Given the description of an element on the screen output the (x, y) to click on. 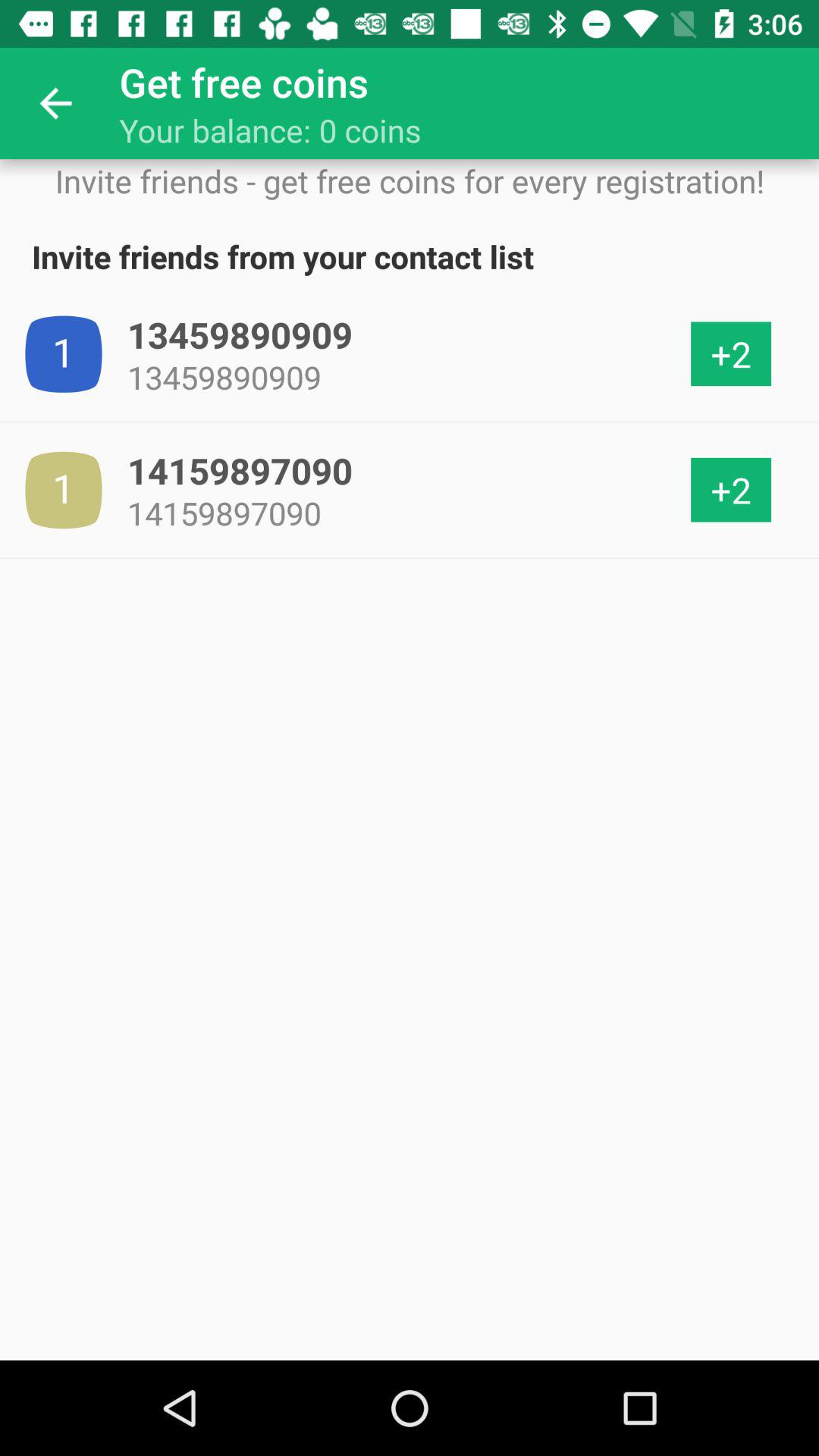
choose the app to the left of get free coins icon (55, 103)
